Given the description of an element on the screen output the (x, y) to click on. 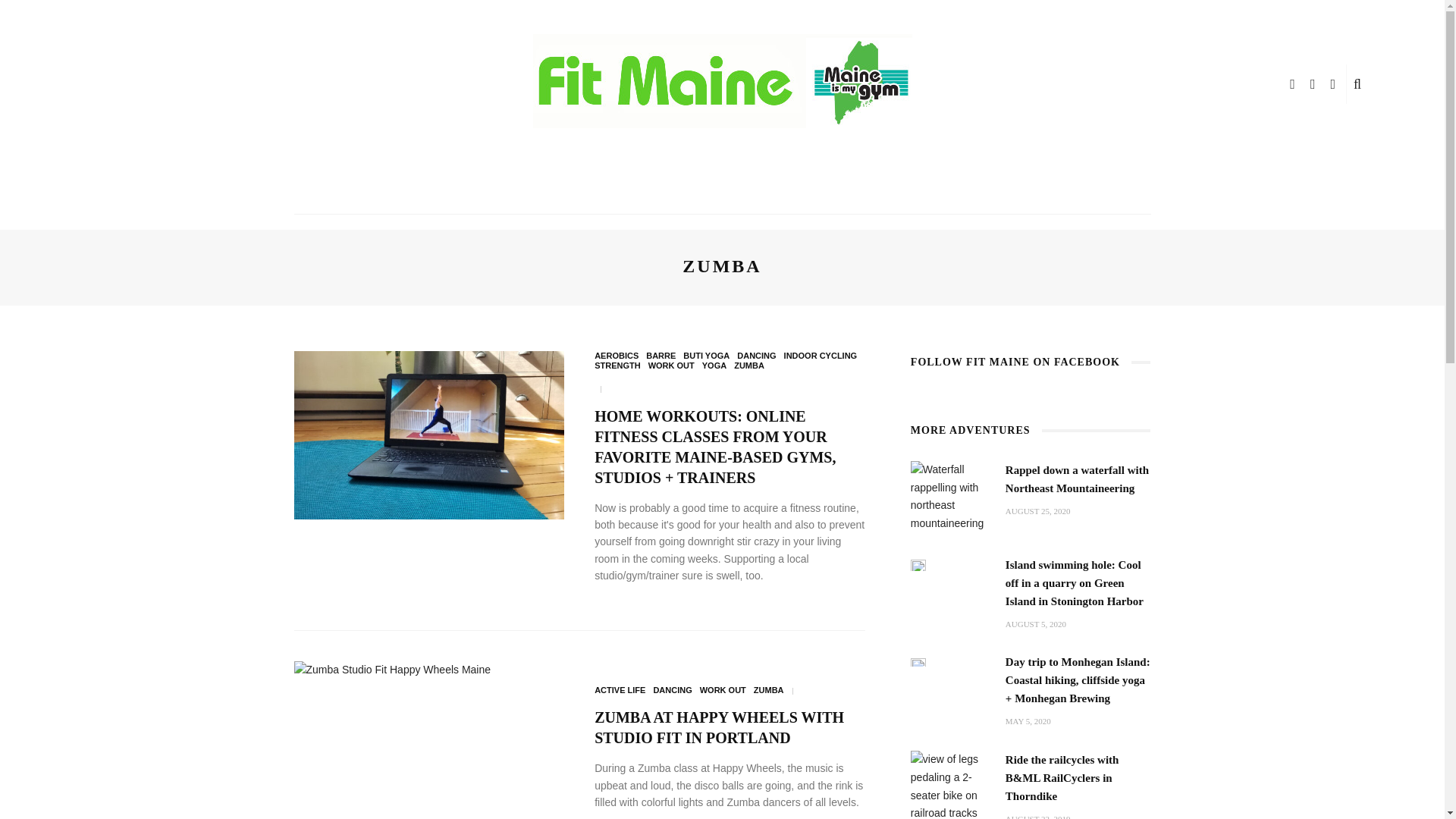
SOCIAL CLUB (877, 190)
WORK OUT (780, 190)
off canvas button (91, 84)
DANCING (756, 355)
HOME (546, 190)
Zumba at Happy Wheels with Studio Fit in Portland (719, 727)
OUTDOOR ADVENTURE (654, 190)
BARRE (660, 355)
INDOOR CYCLING (820, 355)
AEROBICS (616, 355)
